Given the description of an element on the screen output the (x, y) to click on. 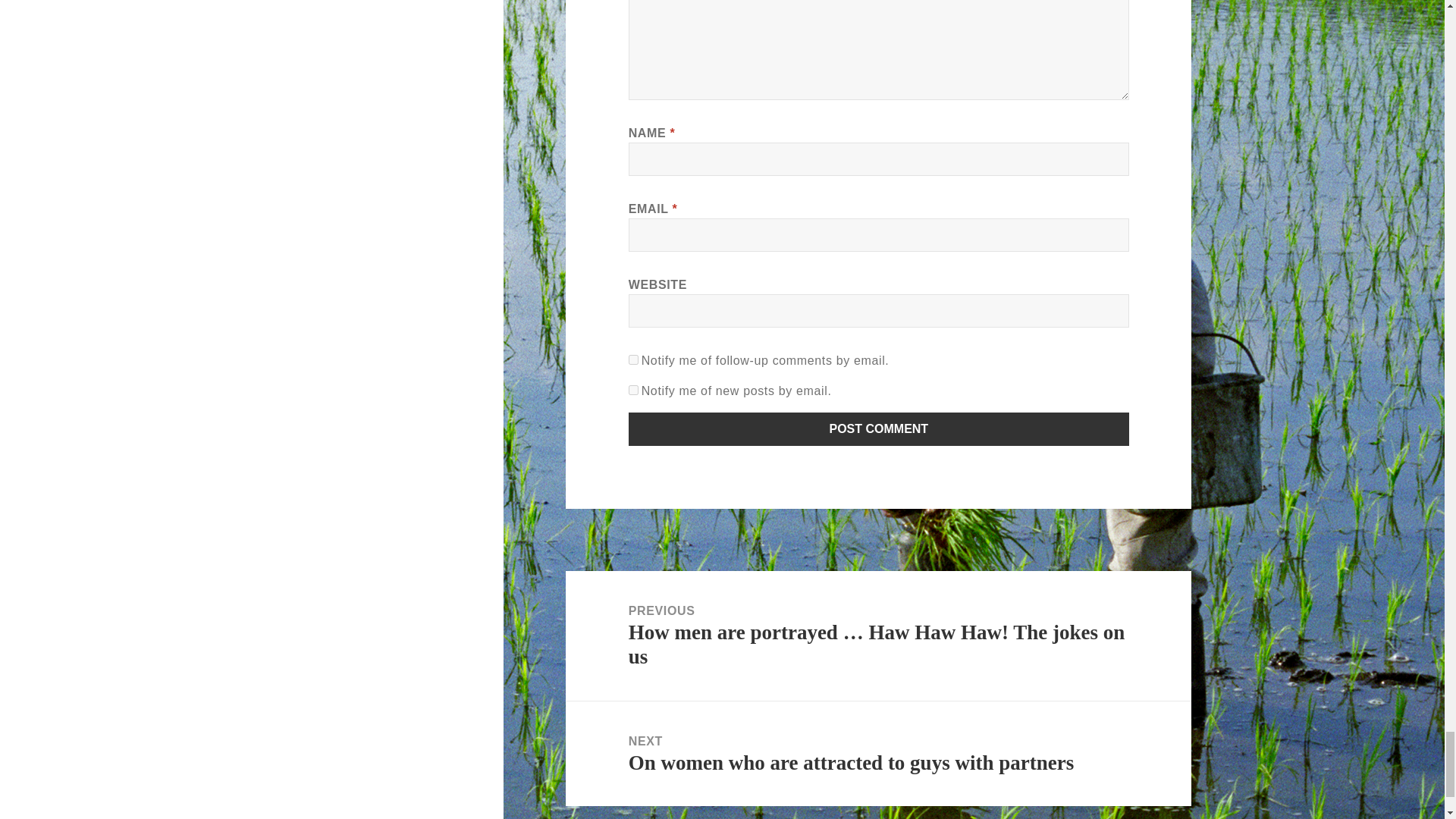
subscribe (633, 359)
Post Comment (878, 428)
subscribe (633, 389)
